Given the description of an element on the screen output the (x, y) to click on. 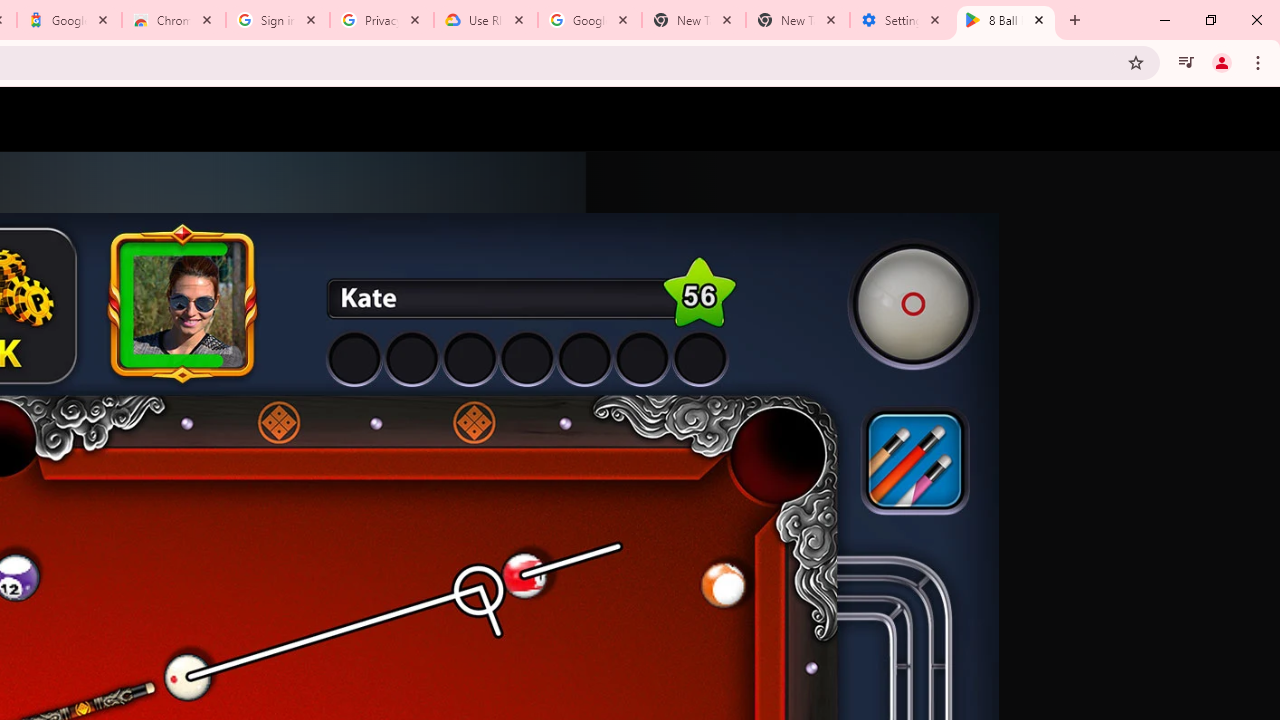
Open account menu (1245, 119)
Sign in - Google Accounts (278, 20)
Google (68, 20)
New Tab (797, 20)
